Given the description of an element on the screen output the (x, y) to click on. 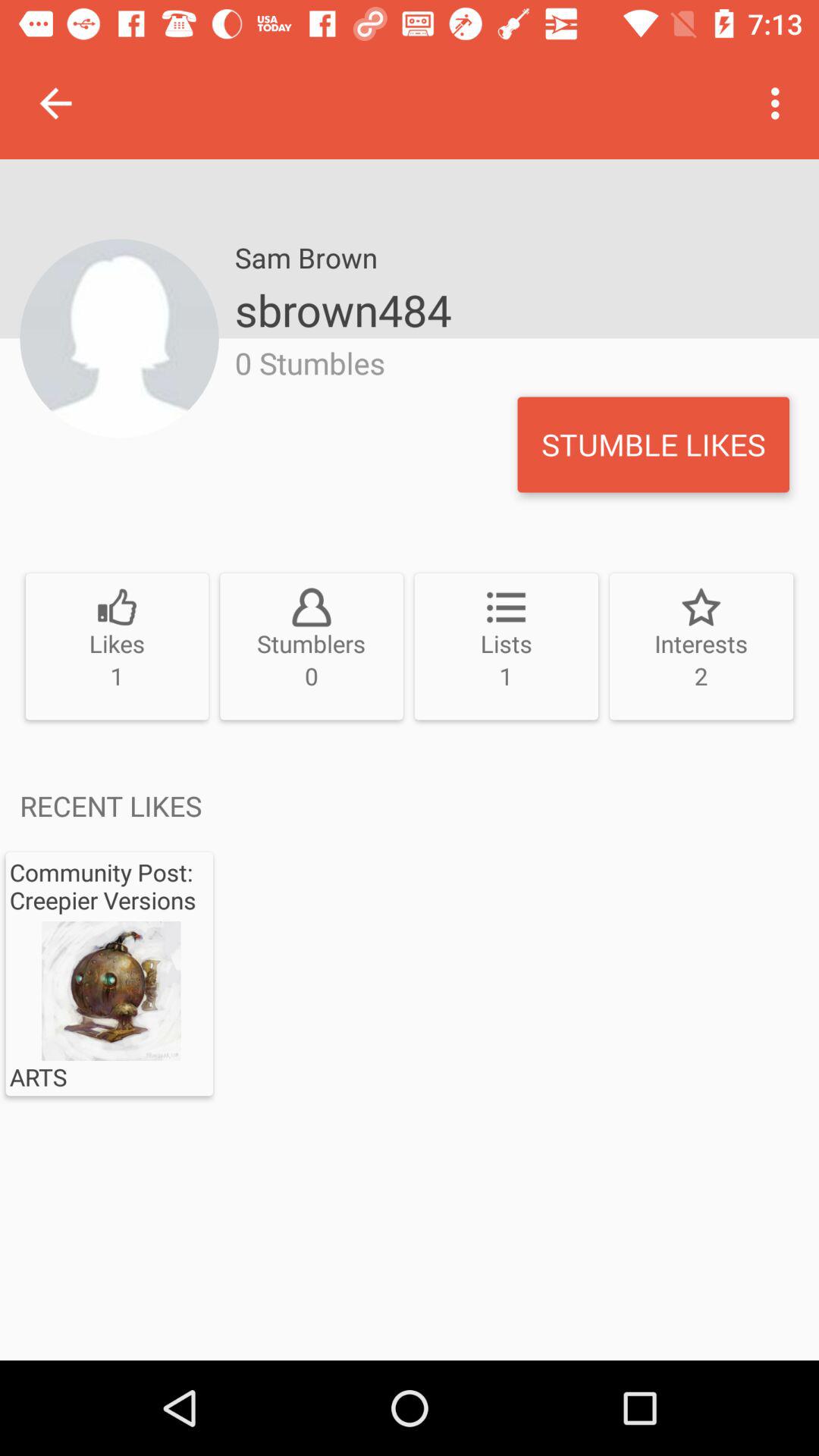
stumble likes (653, 444)
